Given the description of an element on the screen output the (x, y) to click on. 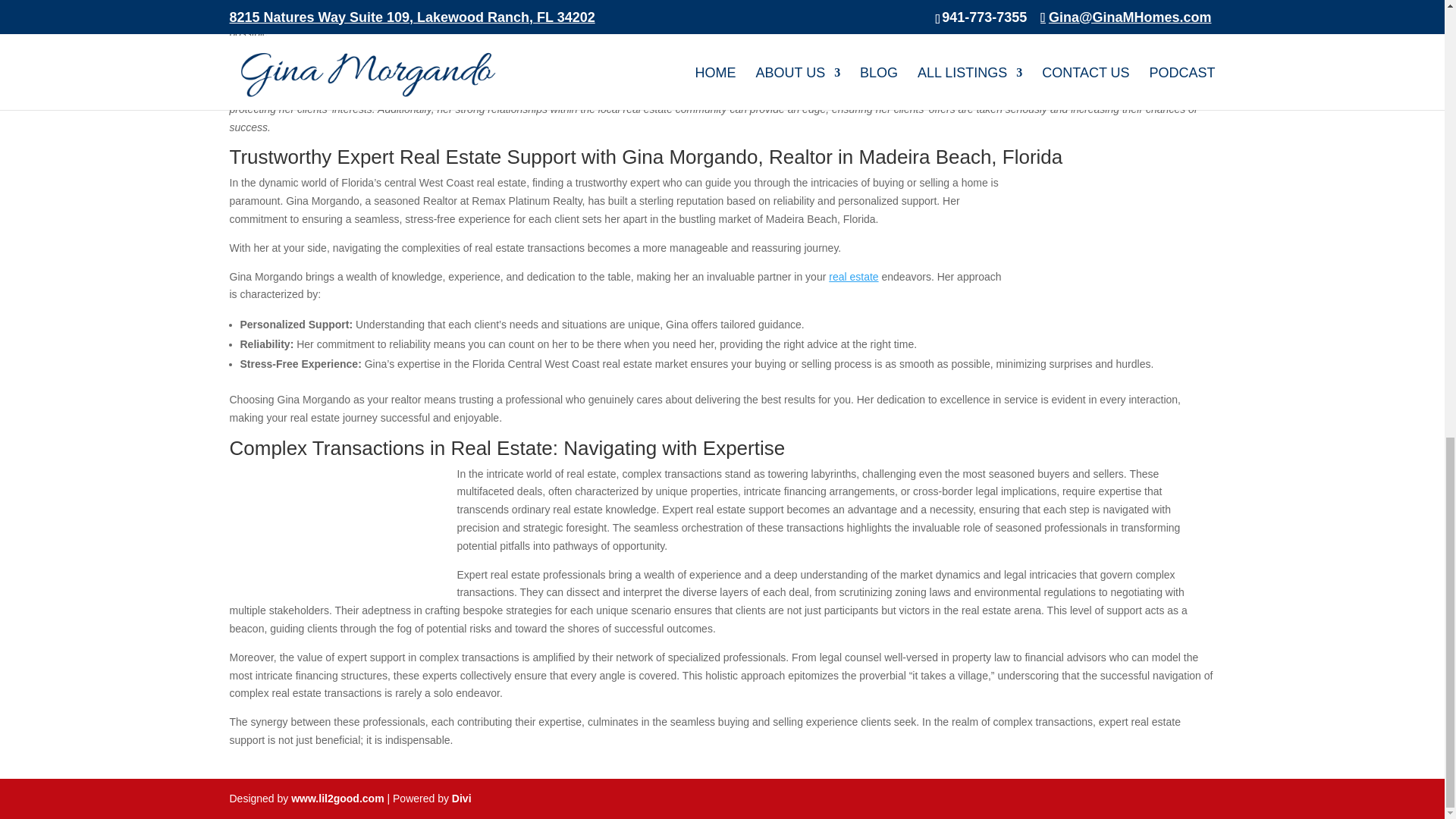
real estate (852, 275)
